Given the description of an element on the screen output the (x, y) to click on. 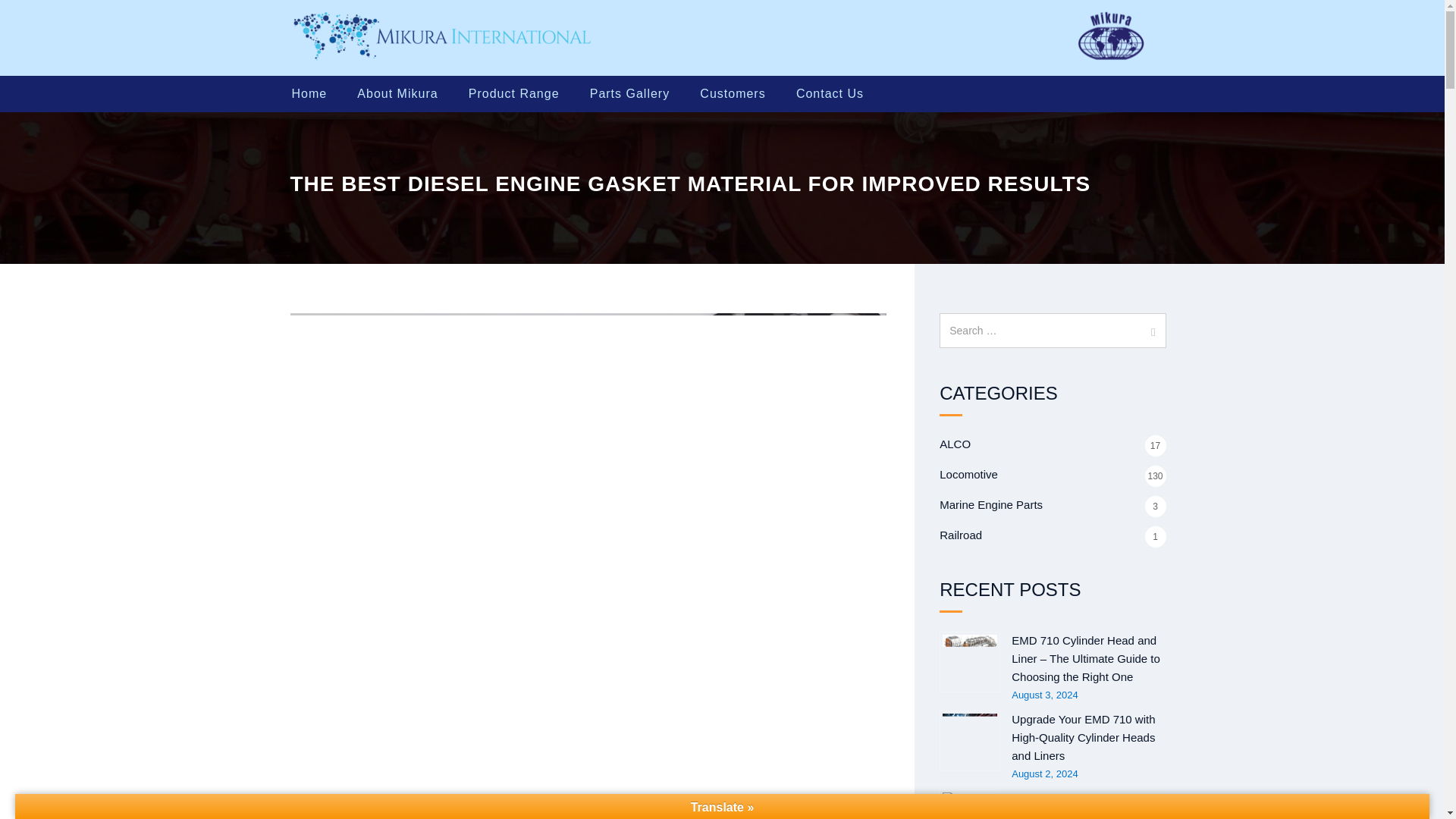
Contact Us (830, 94)
Mikura International (443, 38)
Train Horn Valve Guide: Choosing, Maintenance, and Benefits (969, 804)
Customers (732, 94)
Product Range (514, 94)
Search (1148, 330)
About Mikura (397, 94)
Search (1148, 330)
Parts Gallery (630, 94)
Home (310, 94)
